Given the description of an element on the screen output the (x, y) to click on. 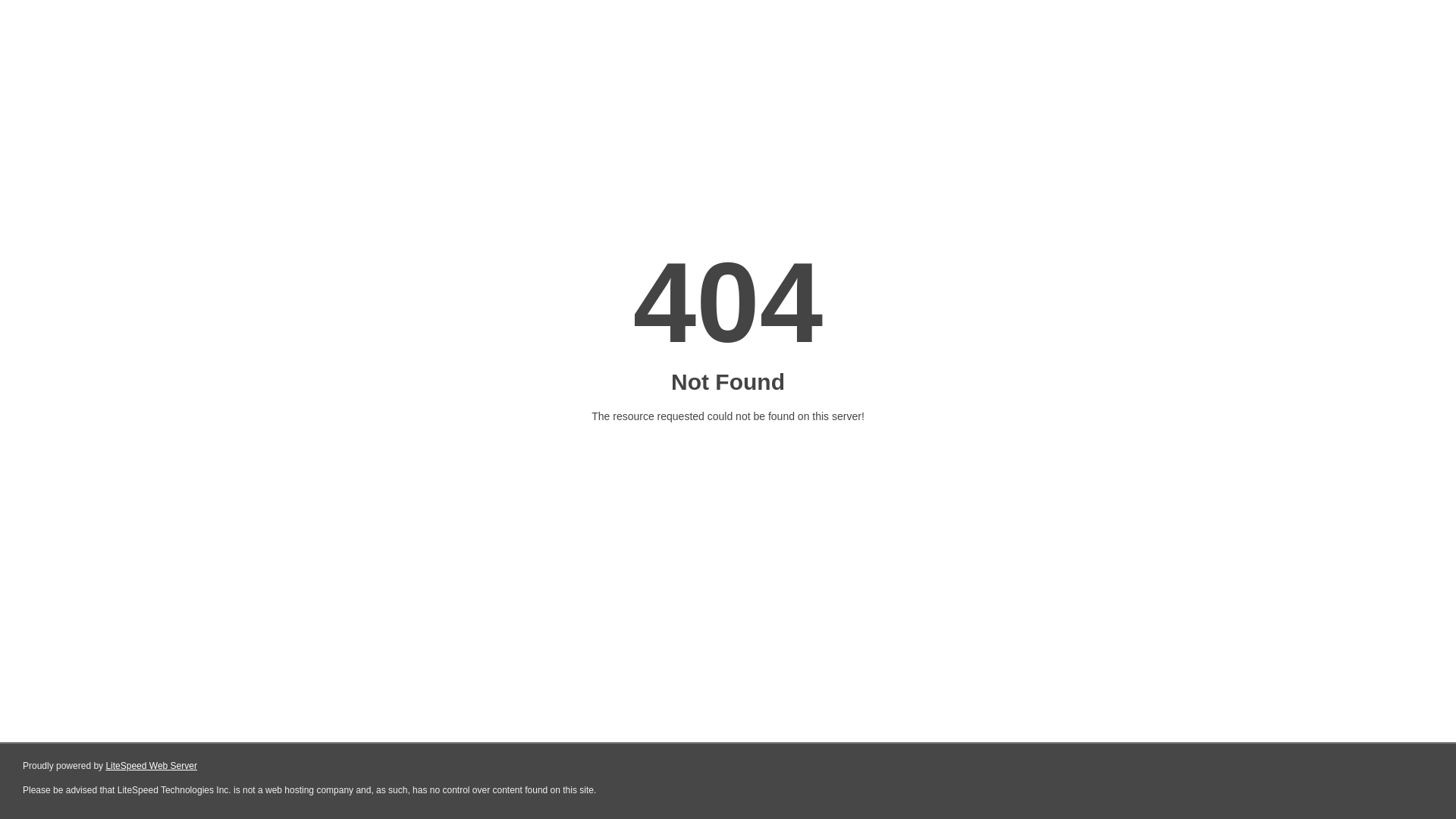
LiteSpeed Web Server Element type: text (151, 765)
